Given the description of an element on the screen output the (x, y) to click on. 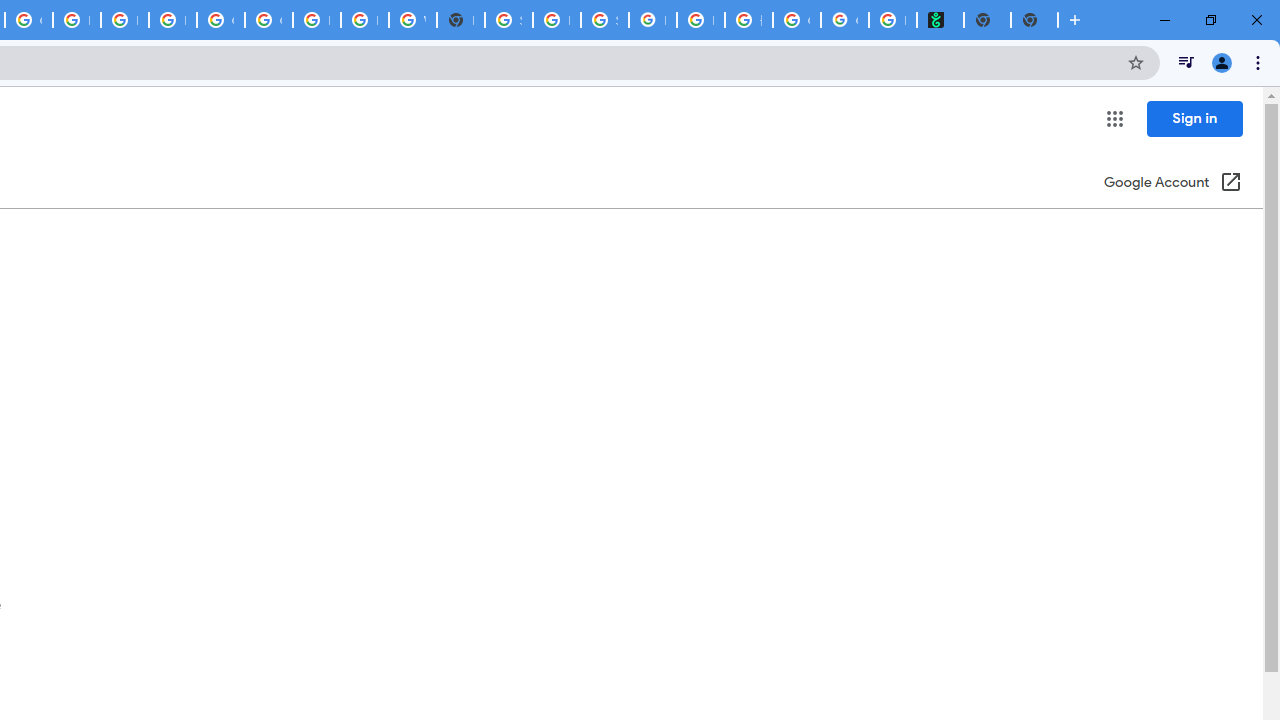
Browse Chrome as a guest - Computer - Google Chrome Help (76, 20)
